Given the description of an element on the screen output the (x, y) to click on. 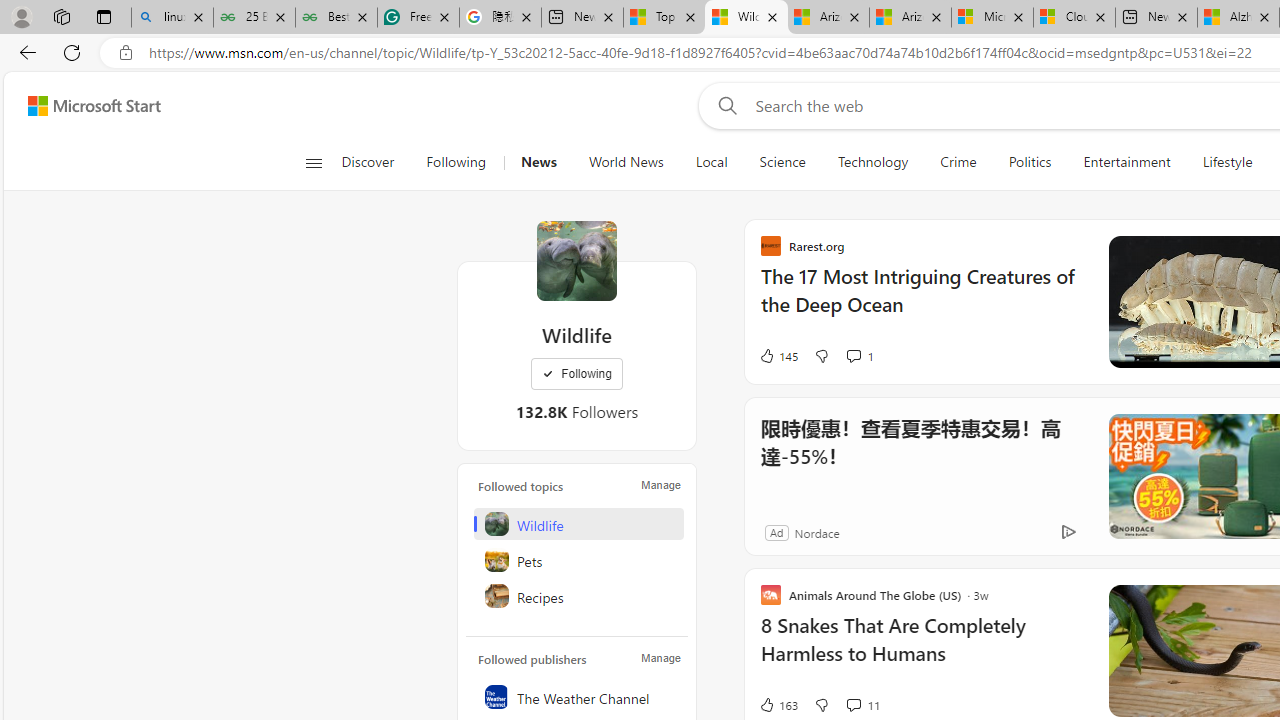
Wildlife - MSN (746, 17)
Recipes (578, 596)
Wildlife (578, 524)
View comments 11 Comment (862, 704)
The 17 Most Intriguing Creatures of the Deep Ocean (922, 300)
